Given the description of an element on the screen output the (x, y) to click on. 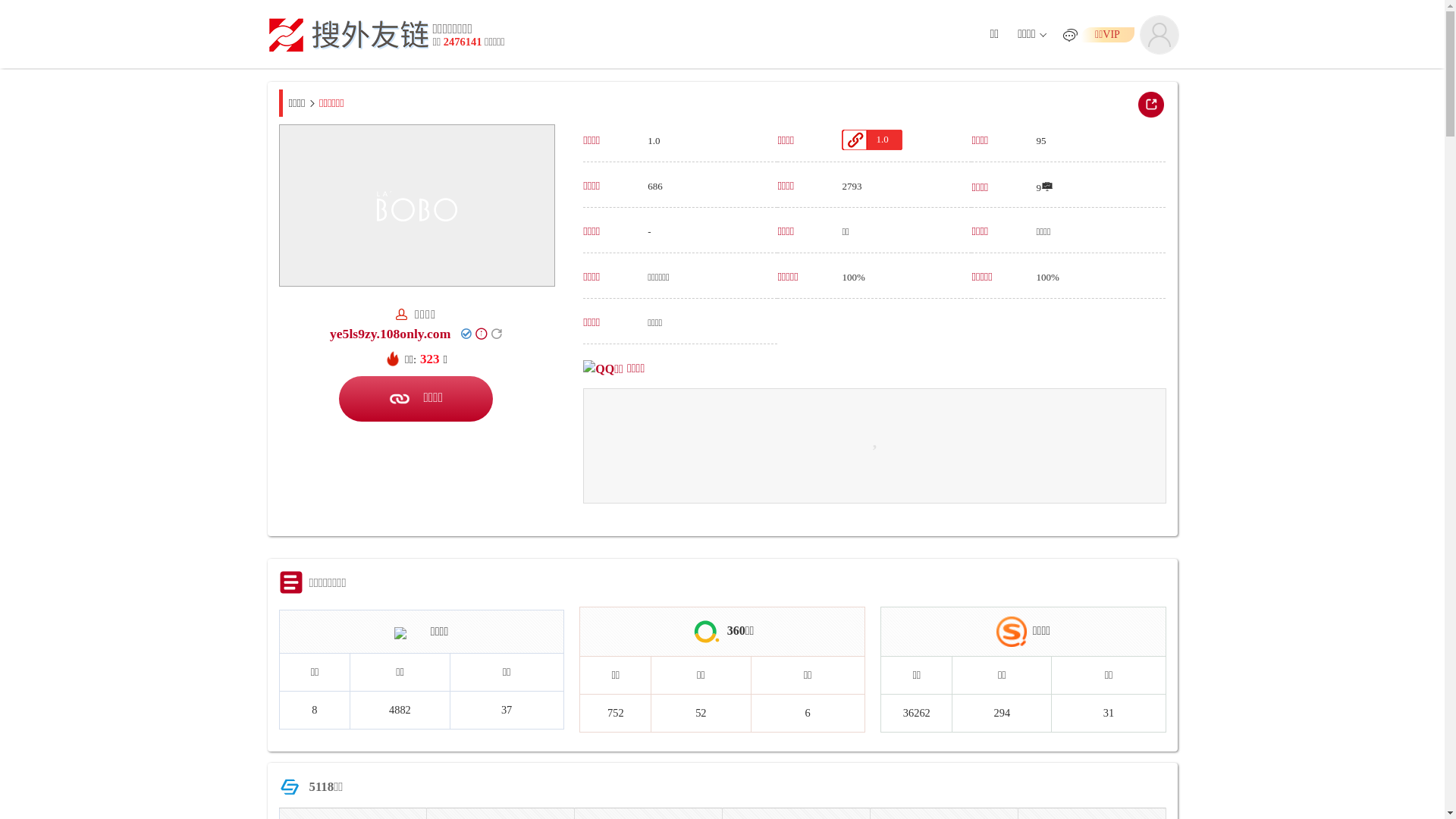
ye5ls9zy.108only.com Element type: text (389, 333)
